Given the description of an element on the screen output the (x, y) to click on. 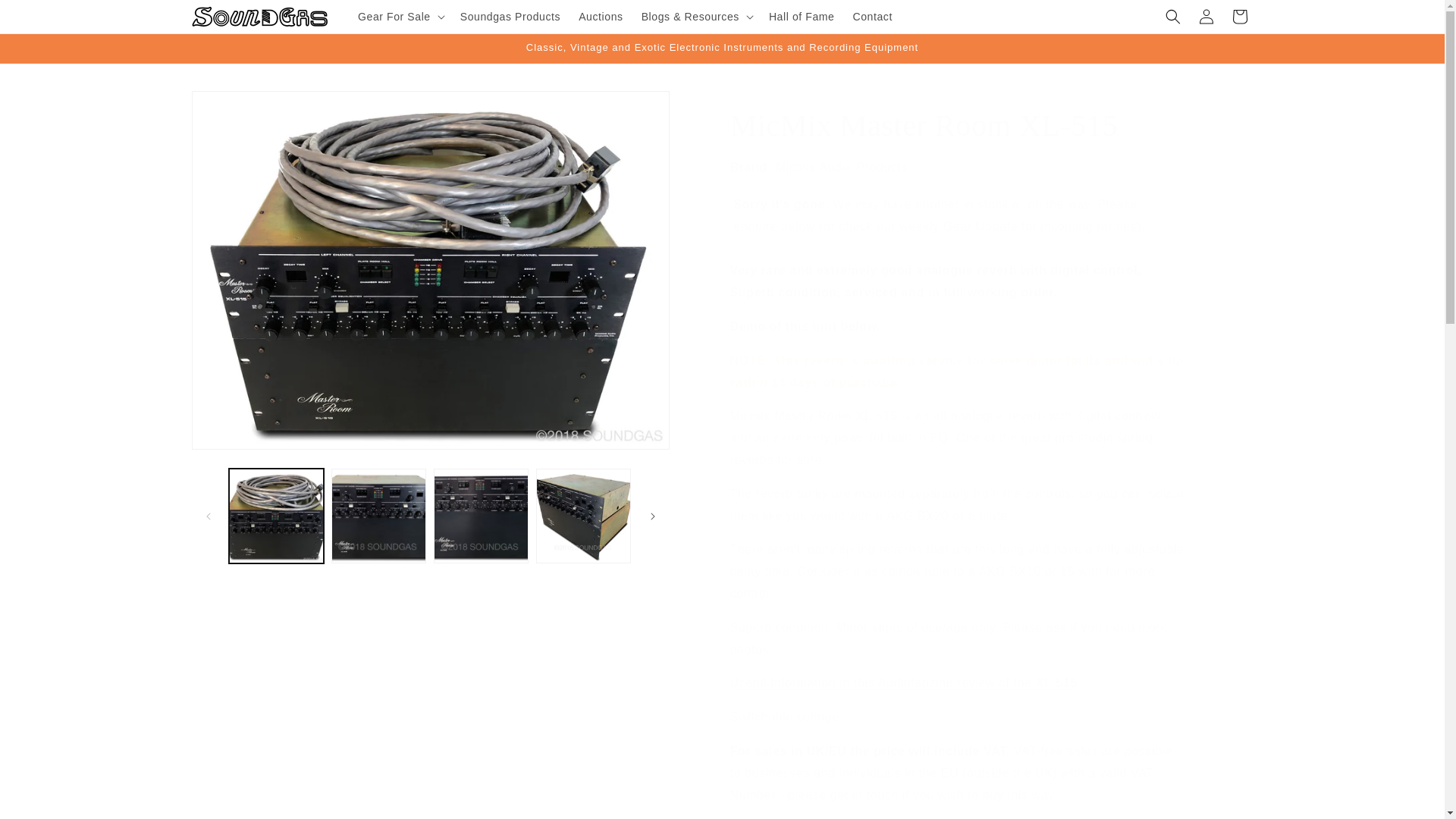
Skip to content (45, 17)
